Given the description of an element on the screen output the (x, y) to click on. 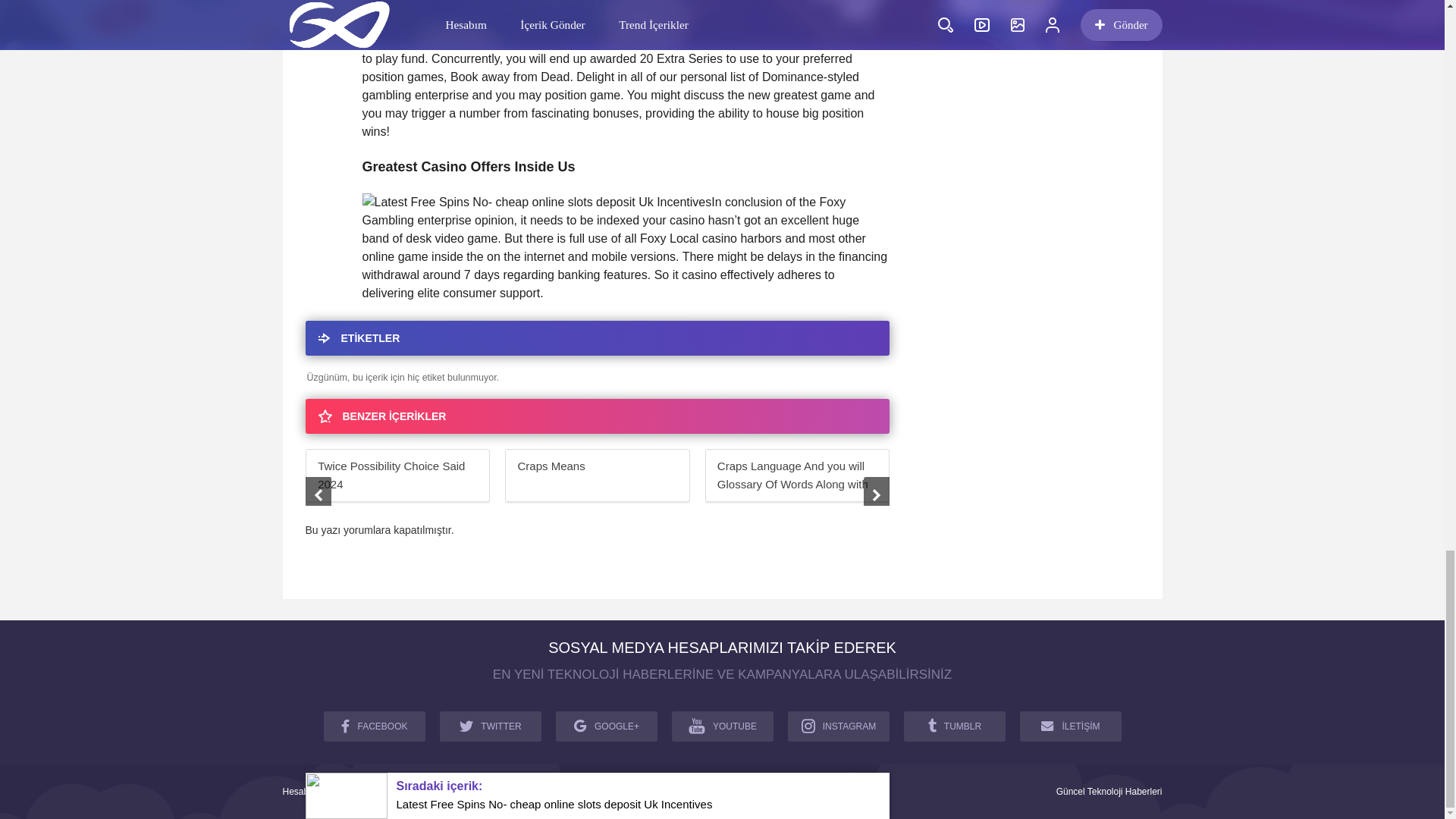
Twice Possibility Choice Said 2024 (397, 475)
Craps Means (596, 475)
